Given the description of an element on the screen output the (x, y) to click on. 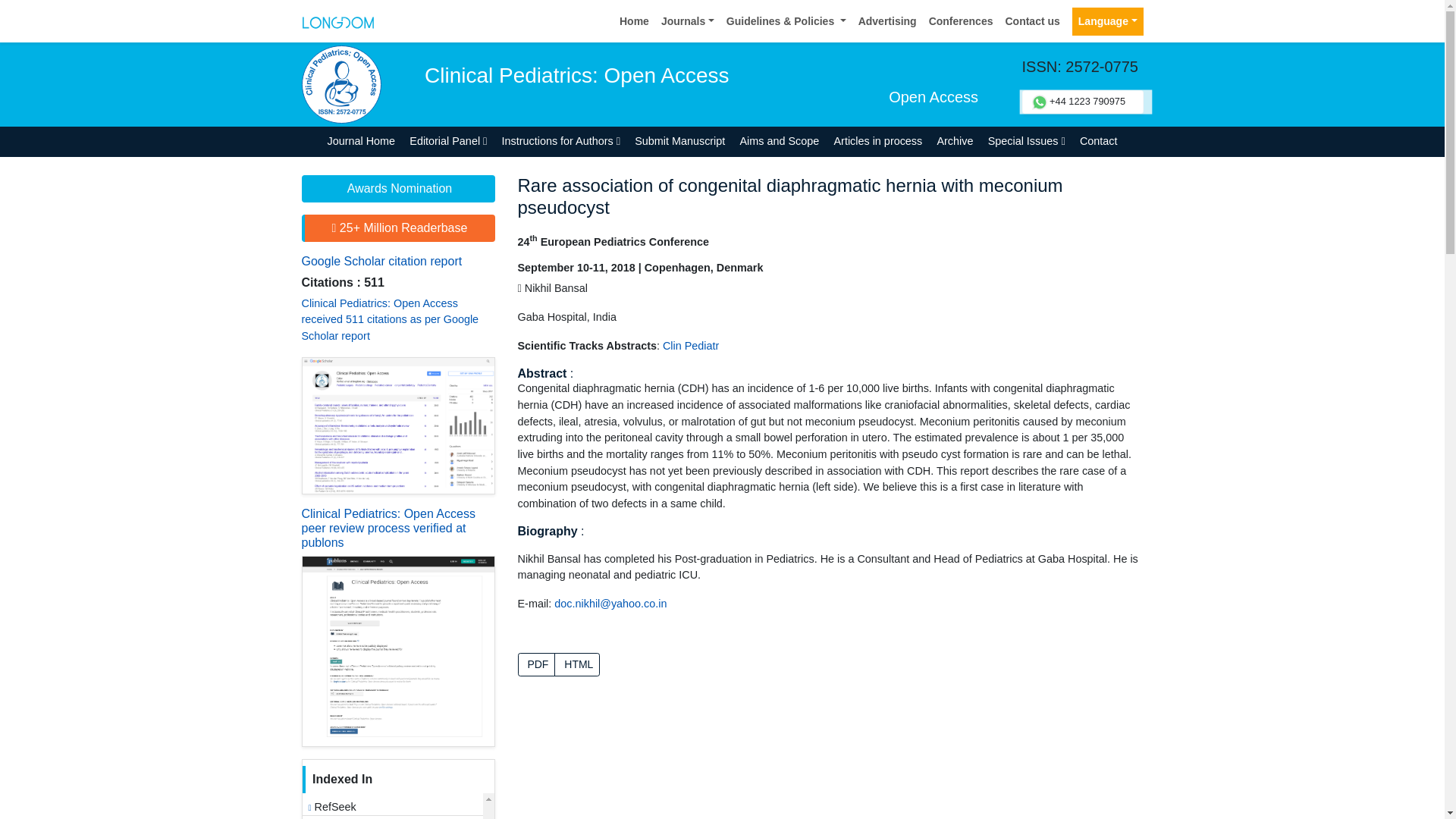
Contact us (1031, 21)
Instructions for Authors (561, 142)
Home (633, 21)
Longdom Publishing S.L (337, 20)
Conferences (960, 21)
Archive (954, 142)
Advertising (887, 21)
Aims and Scope (779, 142)
Conferences (960, 21)
Editorial Panel (449, 142)
